Given the description of an element on the screen output the (x, y) to click on. 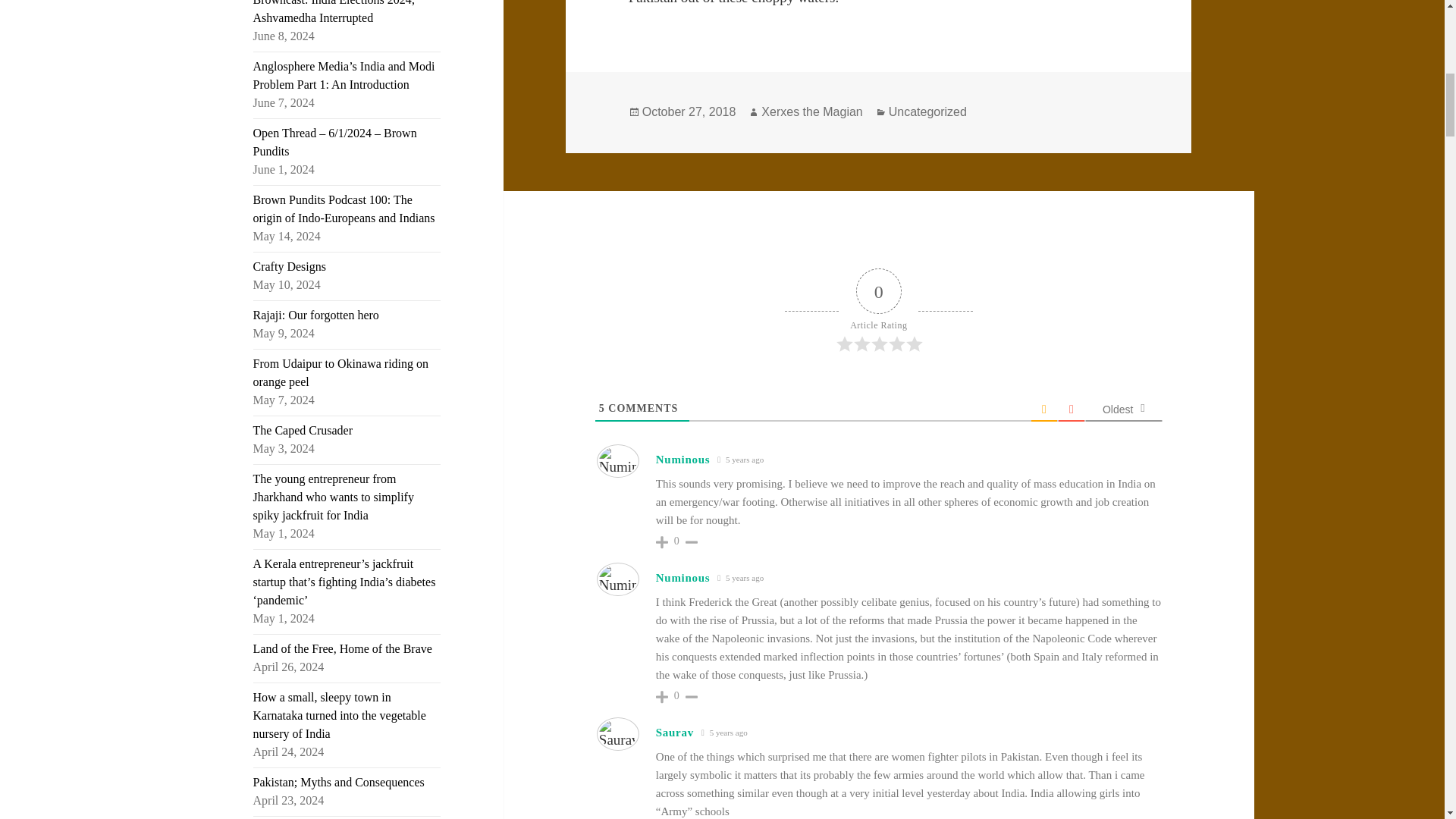
From Udaipur to Okinawa riding on orange peel (341, 372)
Rajaji: Our forgotten hero (315, 314)
October 29, 2018 3:16 pm (724, 732)
October 27, 2018 9:03 pm (740, 459)
Crafty Designs (289, 266)
0 (676, 541)
Land of the Free, Home of the Brave (342, 648)
Browncast: India Elections 2024; Ashvamedha Interrupted (333, 12)
Pakistan; Myths and Consequences (339, 781)
October 27, 2018 9:11 pm (740, 577)
The Caped Crusader (303, 430)
0 (676, 695)
